Given the description of an element on the screen output the (x, y) to click on. 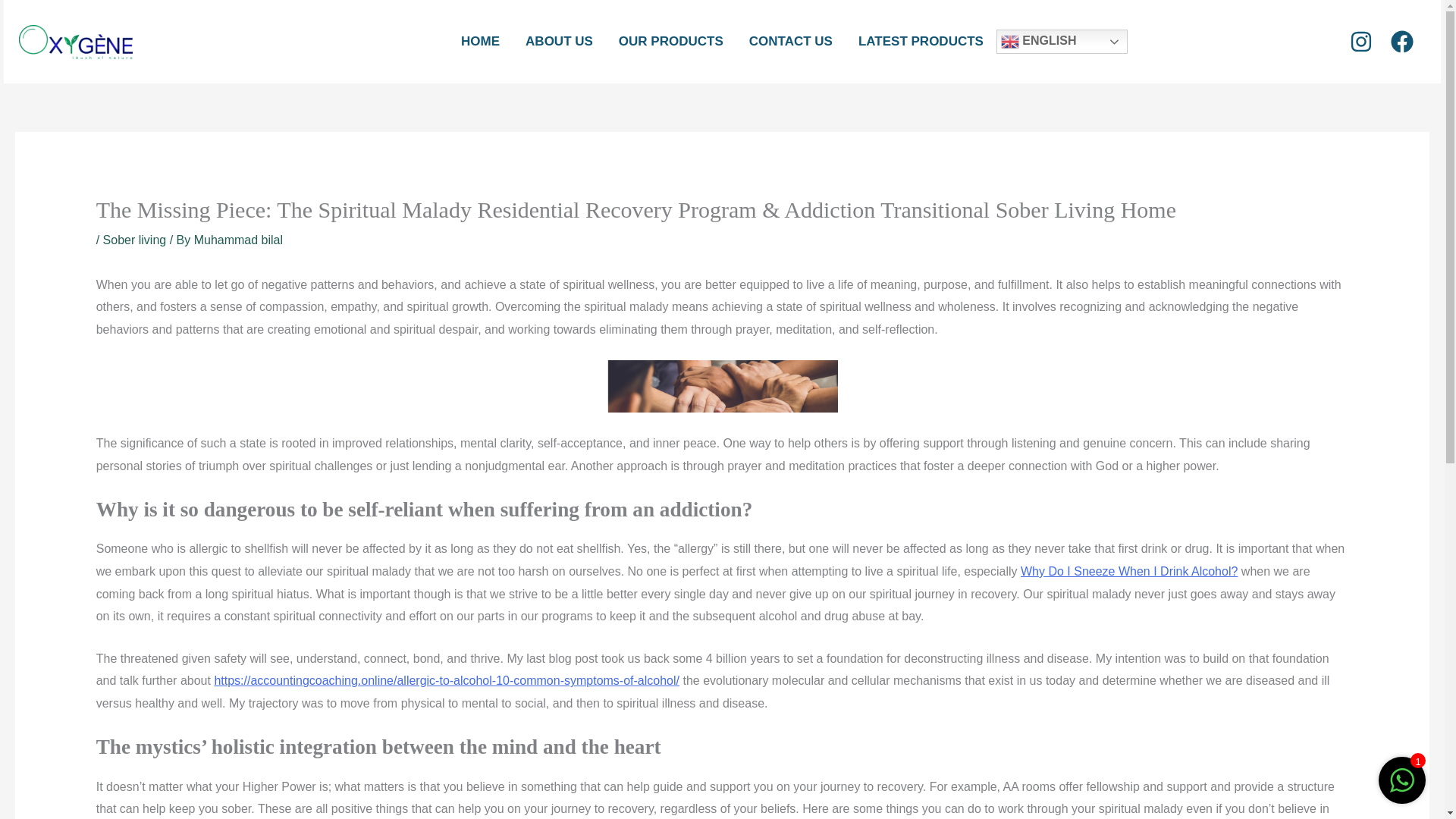
Why Do I Sneeze When I Drink Alcohol? (1128, 571)
Muhammad bilal (237, 239)
CONTACT US (790, 41)
ABOUT US (558, 41)
OUR PRODUCTS (670, 41)
1 (1401, 788)
Sober living (135, 239)
ENGLISH (1060, 41)
View all posts by Muhammad bilal (237, 239)
LATEST PRODUCTS (920, 41)
